Given the description of an element on the screen output the (x, y) to click on. 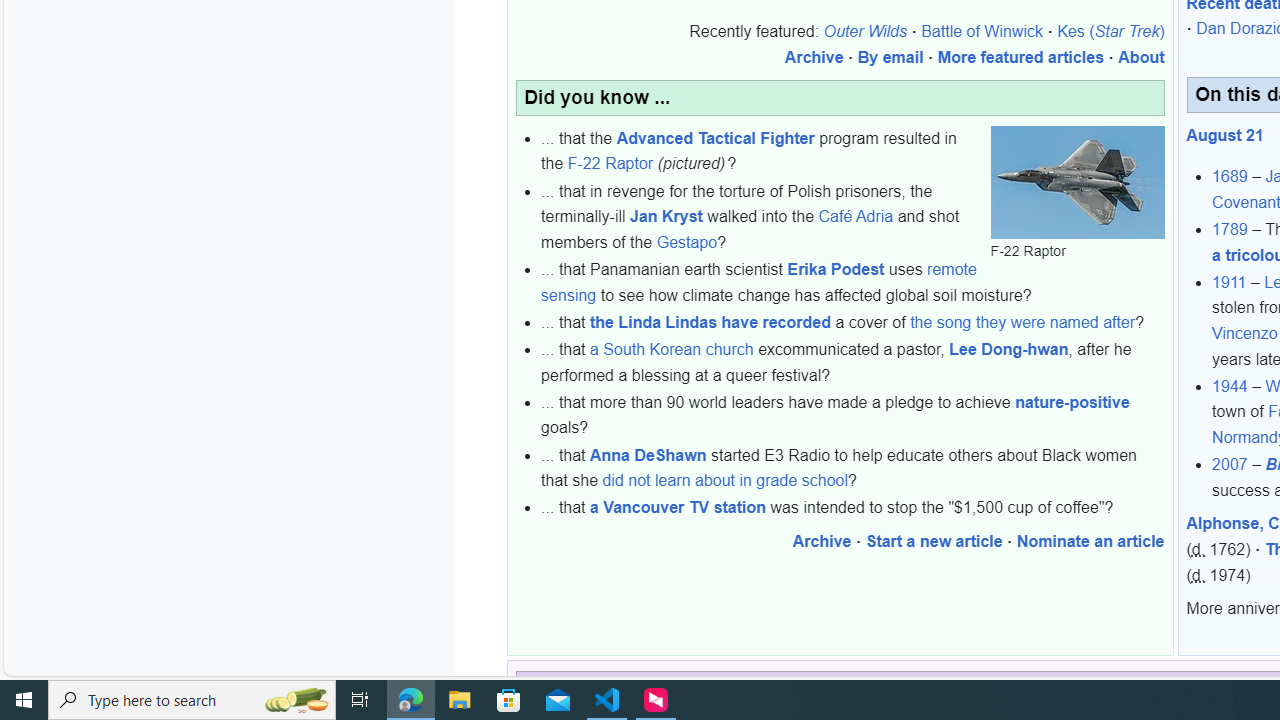
Anna DeShawn (648, 454)
1911 (1229, 281)
remote sensing (758, 281)
nature-positive (1072, 402)
More featured articles (1020, 57)
By email (890, 57)
1689 (1230, 176)
Nominate an article (1090, 541)
Jan Kryst (665, 217)
Kes (Star Trek) (1110, 32)
the song they were named after (1023, 322)
F-22 Raptor (610, 163)
1789 (1230, 230)
